Given the description of an element on the screen output the (x, y) to click on. 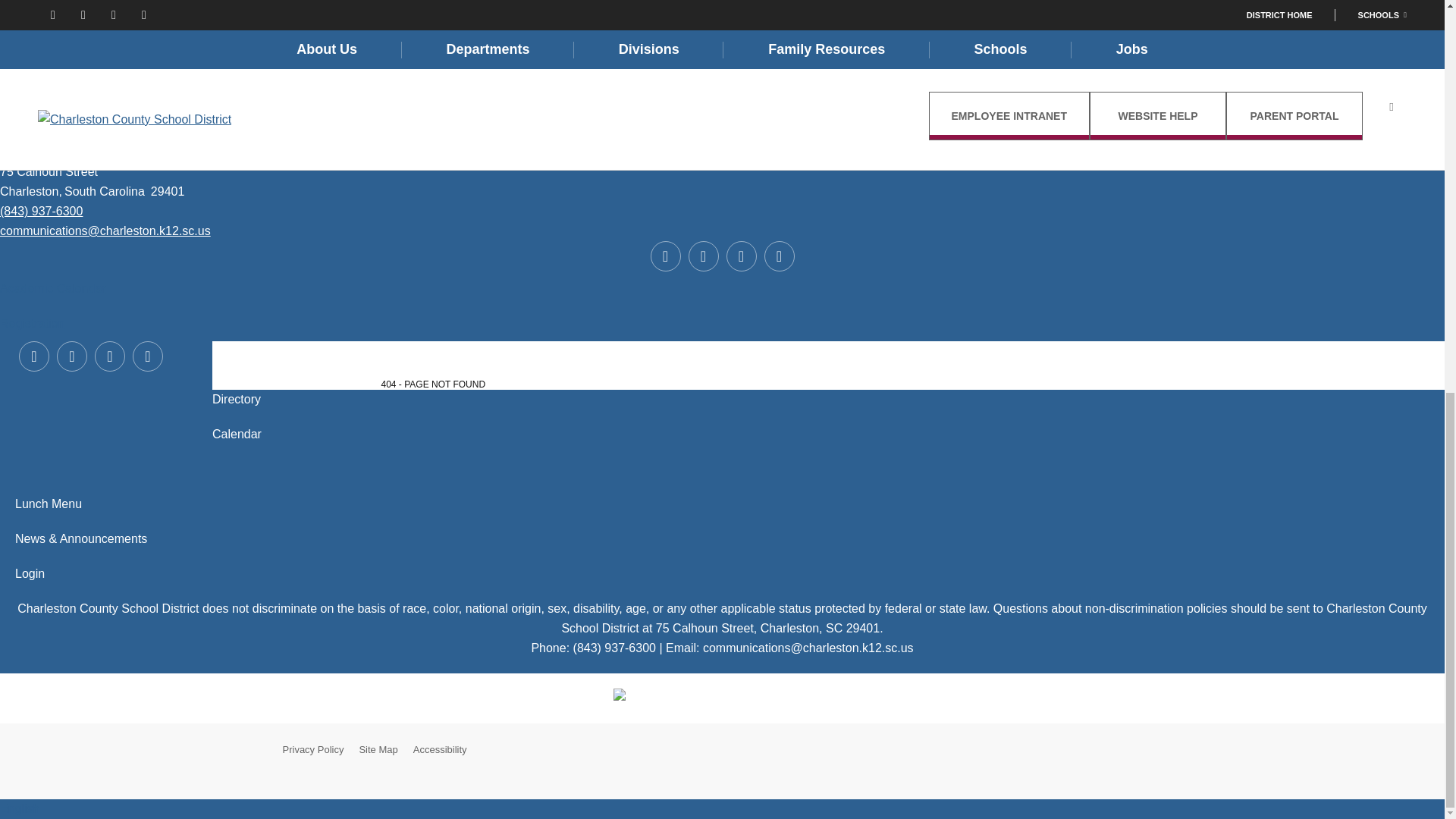
Email (105, 230)
Powered by Finalsite opens in a new window (1118, 750)
